Given the description of an element on the screen output the (x, y) to click on. 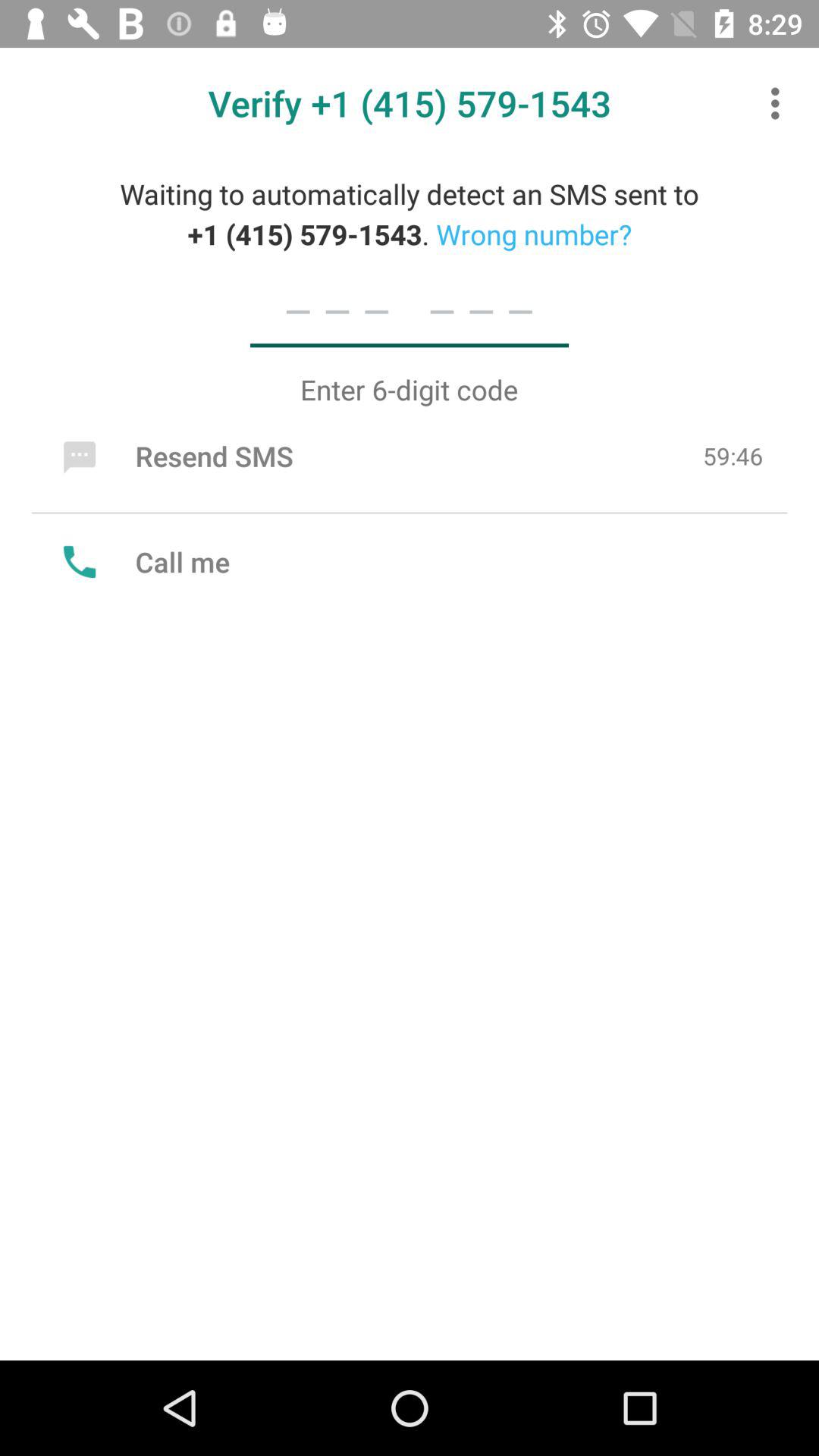
open icon on the left (142, 561)
